Given the description of an element on the screen output the (x, y) to click on. 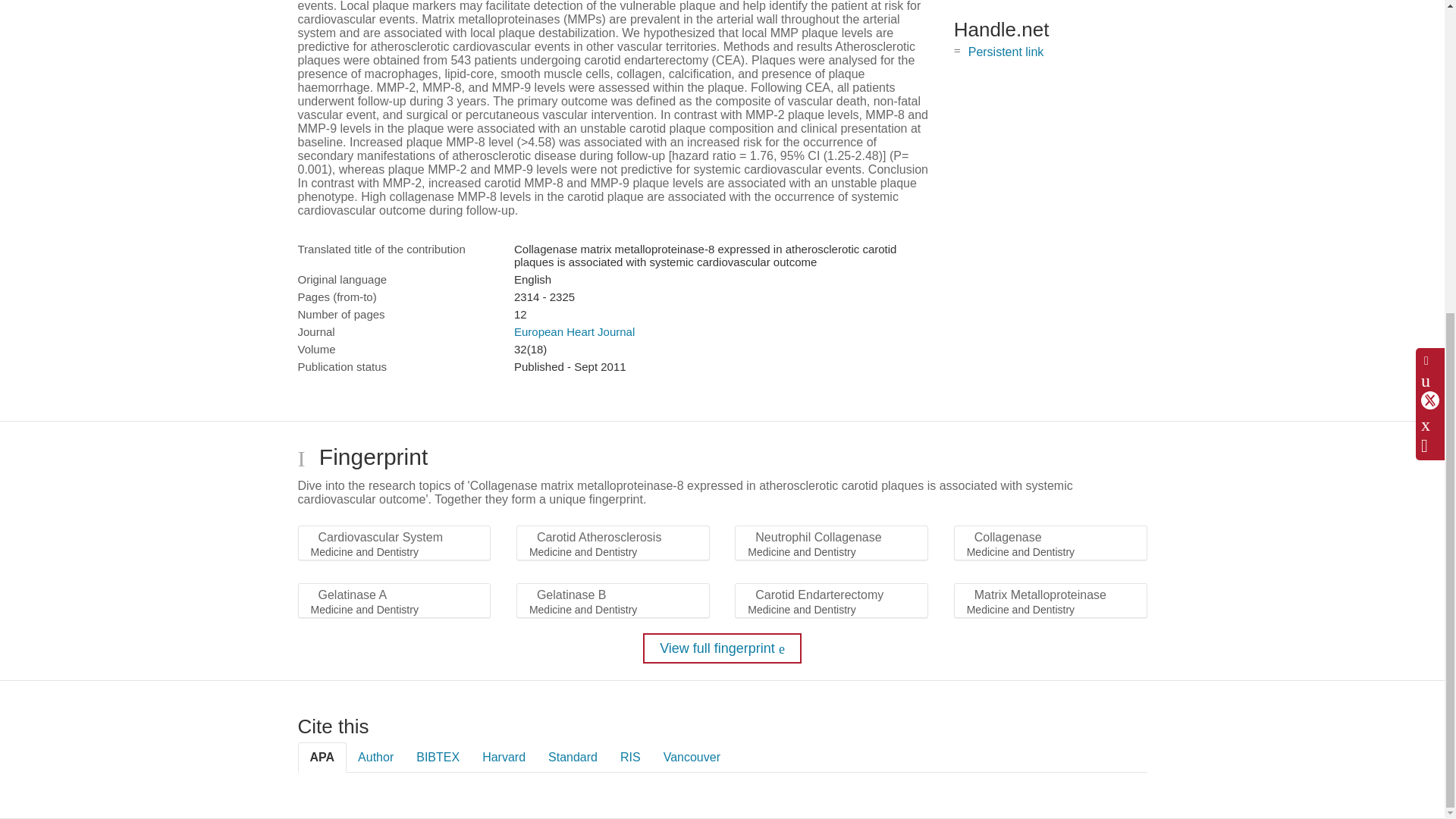
View full fingerprint (722, 648)
Persistent link (1005, 51)
European Heart Journal (573, 331)
